Given the description of an element on the screen output the (x, y) to click on. 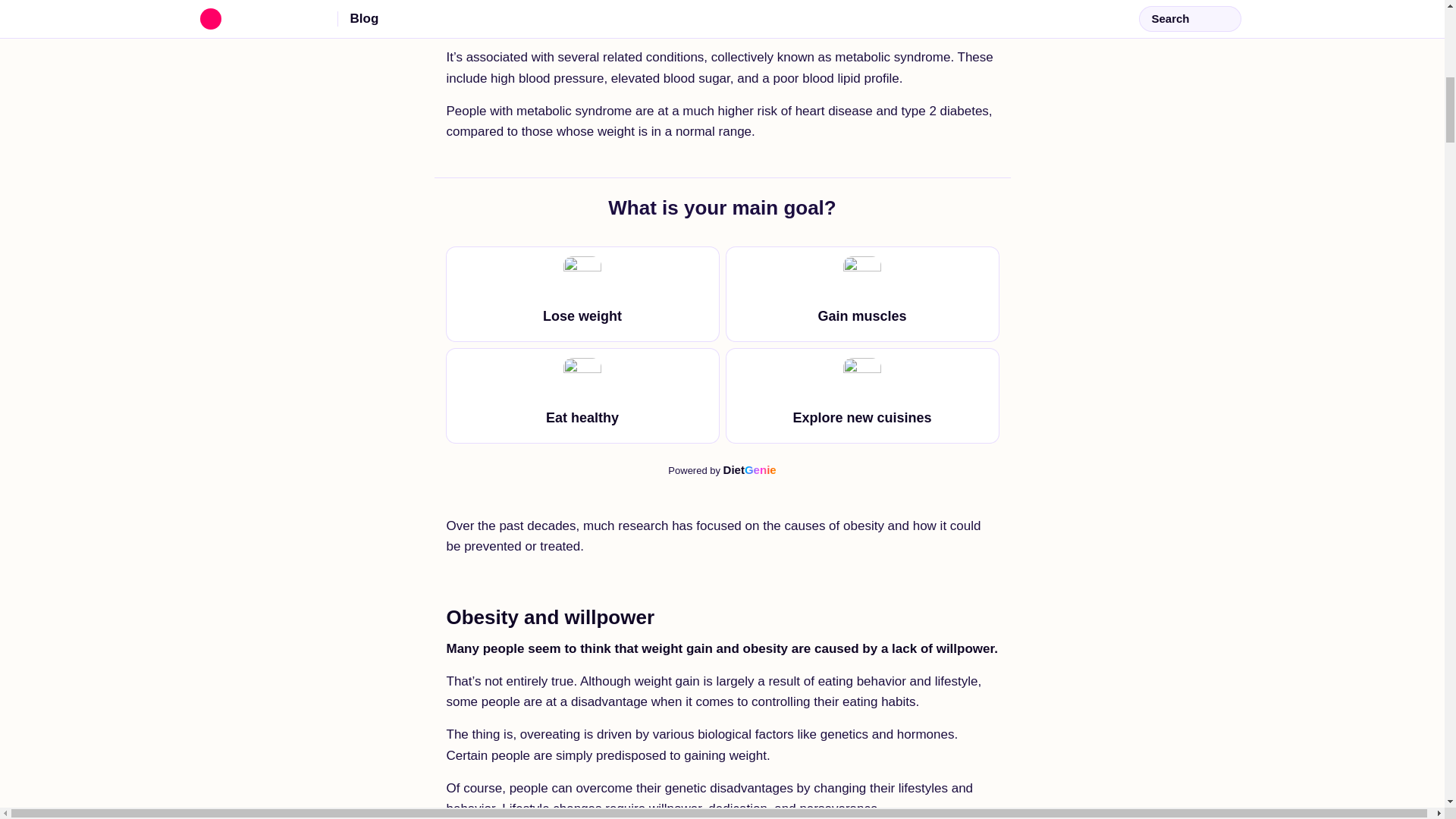
Lose weight (581, 294)
Explore new cuisines (862, 395)
Eat healthy (581, 395)
Gain muscles (722, 470)
